Given the description of an element on the screen output the (x, y) to click on. 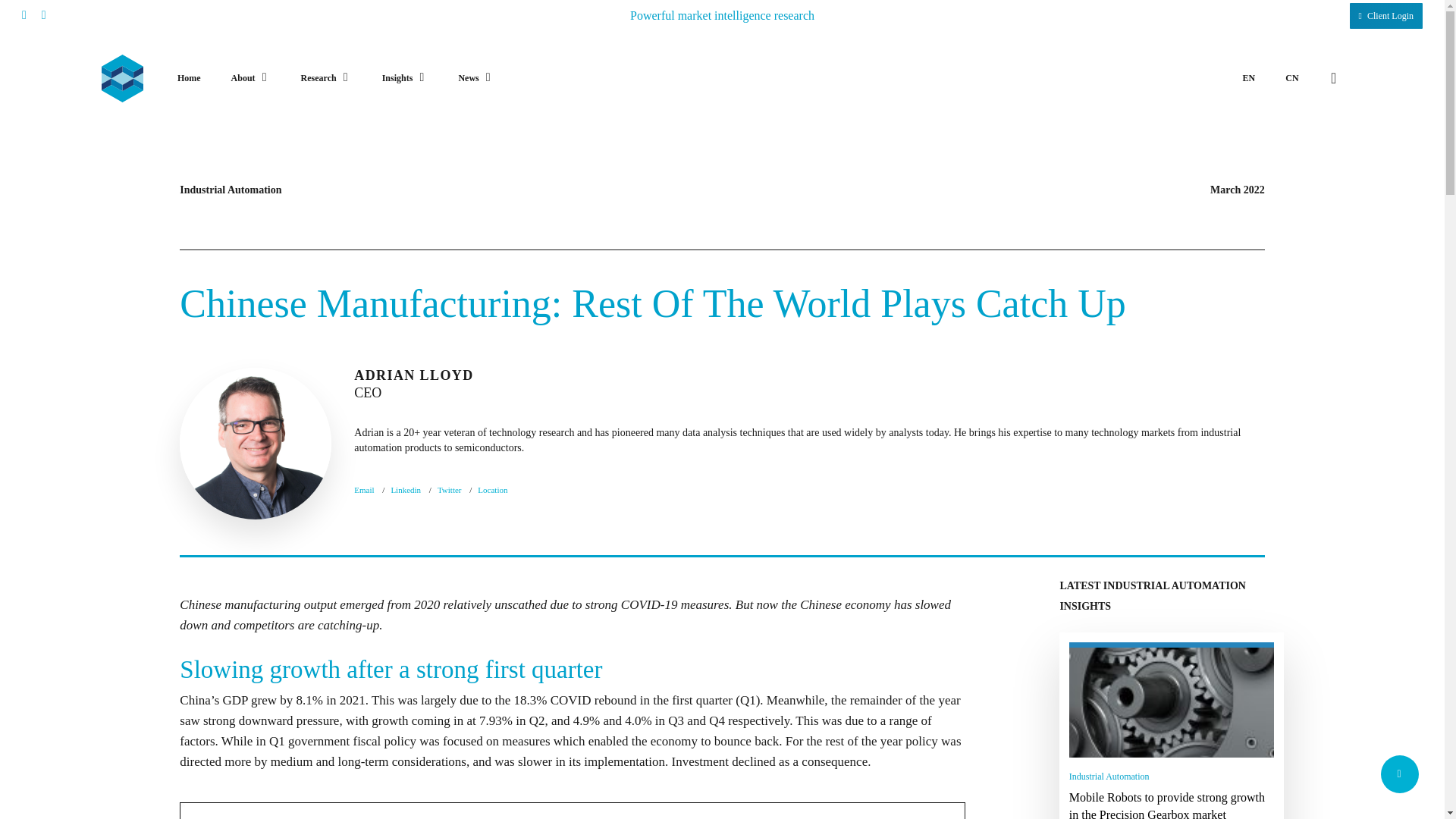
Industrial Automation (1109, 777)
CN (1291, 78)
search (1333, 78)
About (250, 78)
ADRIAN LLOYD (255, 443)
Client Login (1385, 15)
News (475, 78)
Research (326, 78)
Insights (404, 78)
Linkedin (405, 489)
EN (1249, 78)
Email (363, 489)
Twitter (449, 489)
